Given the description of an element on the screen output the (x, y) to click on. 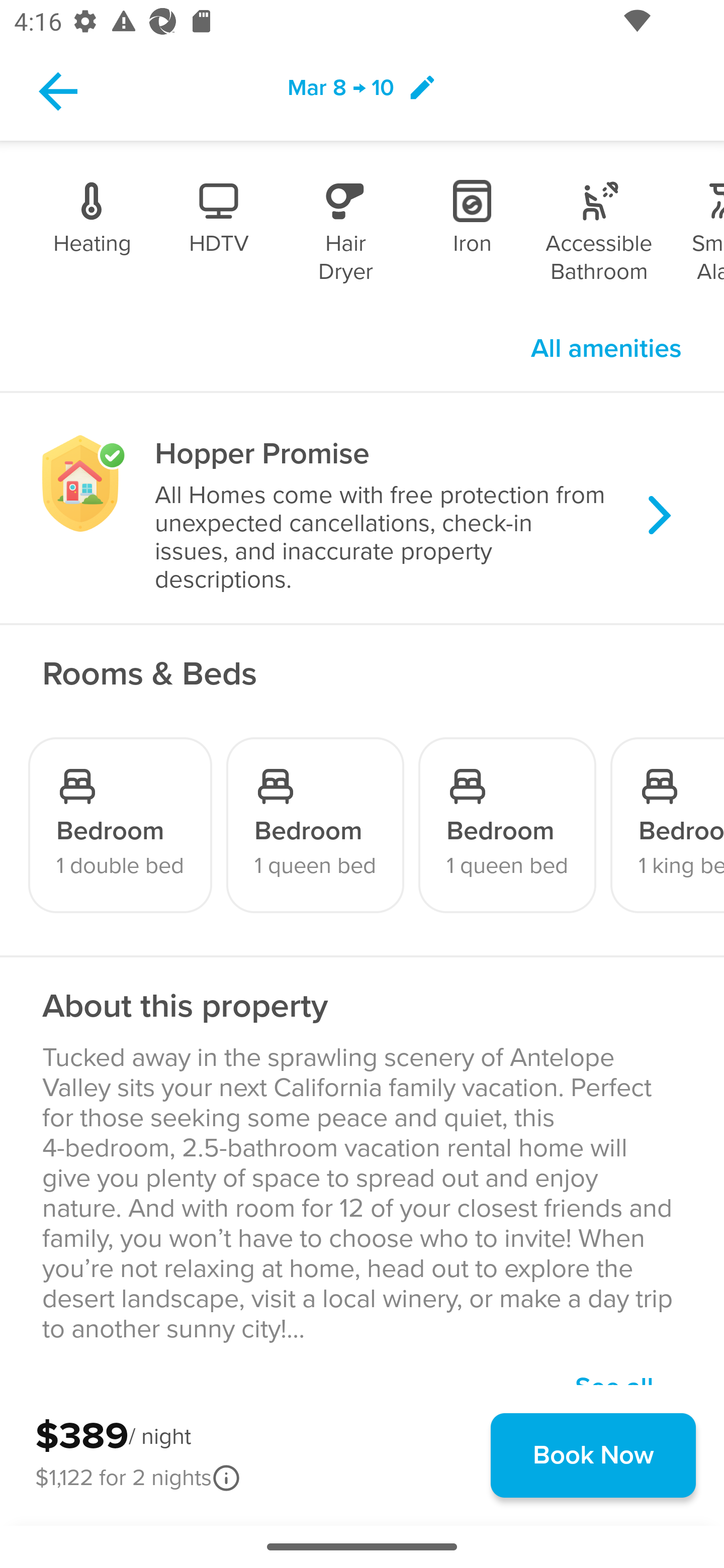
Mar 8 → 10 (361, 90)
All amenities (606, 348)
Book Now (592, 1454)
